Given the description of an element on the screen output the (x, y) to click on. 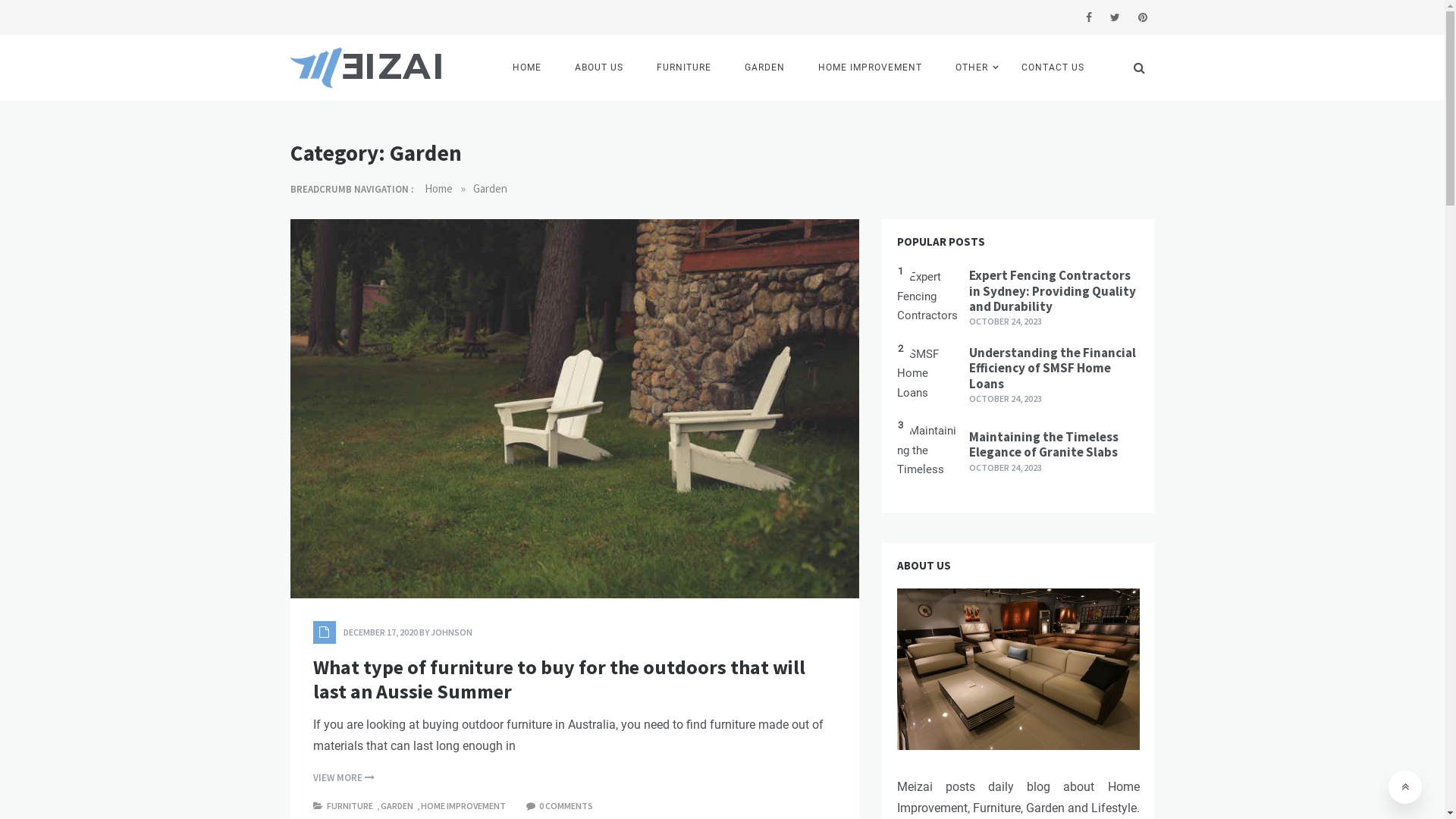
JOHNSON Element type: text (451, 631)
GARDEN Element type: text (764, 67)
CONTACT US Element type: text (1051, 67)
Understanding the Financial Efficiency of SMSF Home Loans Element type: text (1052, 368)
HOME Element type: text (526, 67)
ABOUT US Element type: text (598, 67)
Home Element type: text (438, 188)
HOME IMPROVEMENT Element type: text (869, 67)
Maintaining the Timeless Elegance of Granite Slabs Element type: text (1043, 444)
VIEW MORE Element type: text (342, 777)
FURNITURE Element type: text (683, 67)
HOME IMPROVEMENT Element type: text (464, 805)
FURNITURE Element type: text (351, 805)
OTHER Element type: text (971, 67)
0 COMMENTS Element type: text (567, 805)
DECEMBER 17, 2020 Element type: text (379, 631)
GARDEN Element type: text (398, 805)
Go to Top Element type: hover (1404, 786)
